Given the description of an element on the screen output the (x, y) to click on. 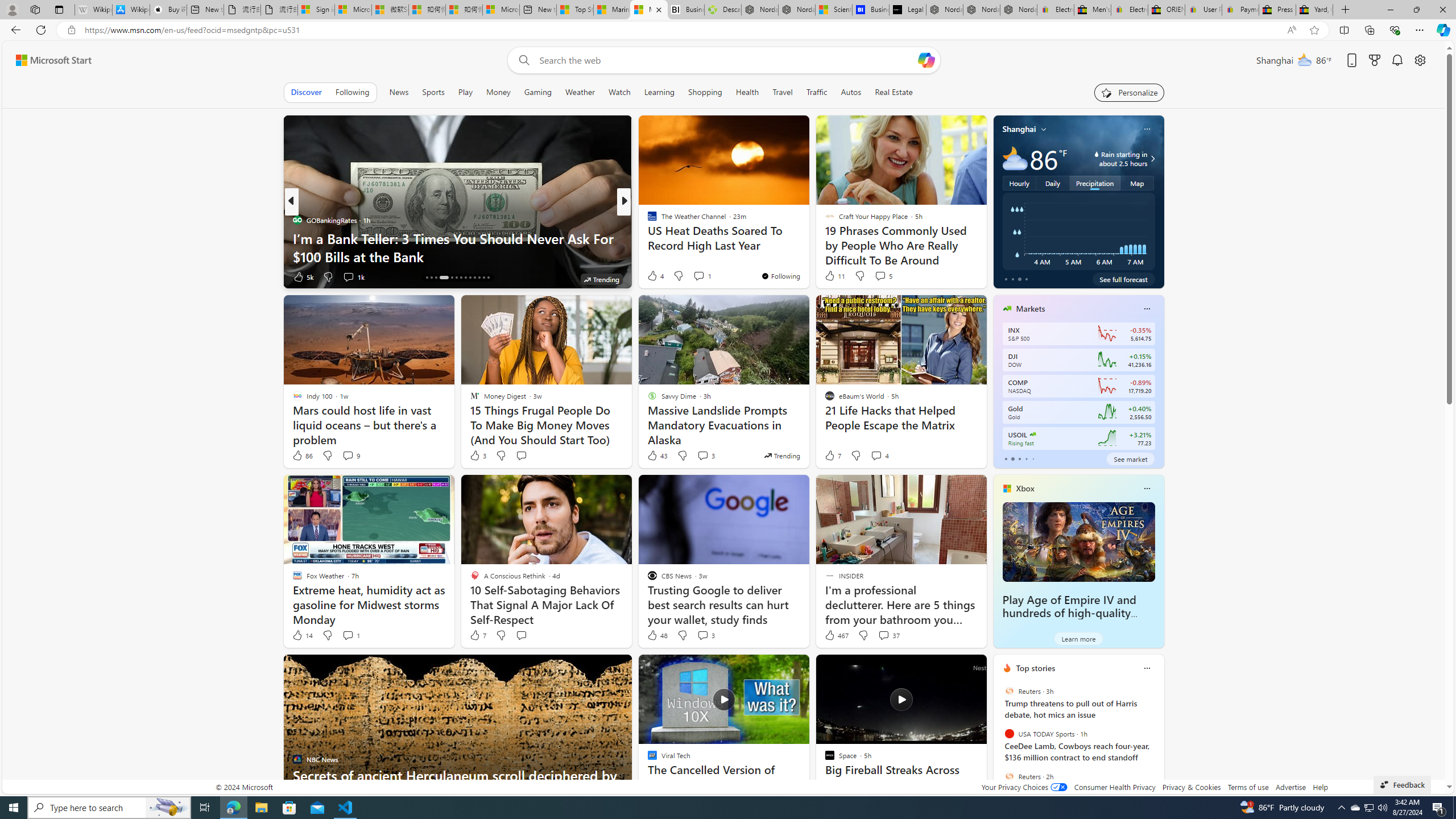
150 Like (654, 276)
Help (1320, 786)
View comments 1k Comment (353, 276)
My location (1043, 128)
Autos (851, 92)
View comments 35 Comment (703, 276)
Start the conversation (521, 634)
Play (465, 92)
AutomationID: tab-24 (478, 277)
AutomationID: tab-14 (426, 277)
AutomationID: tab-26 (488, 277)
Gaming (537, 92)
